Given the description of an element on the screen output the (x, y) to click on. 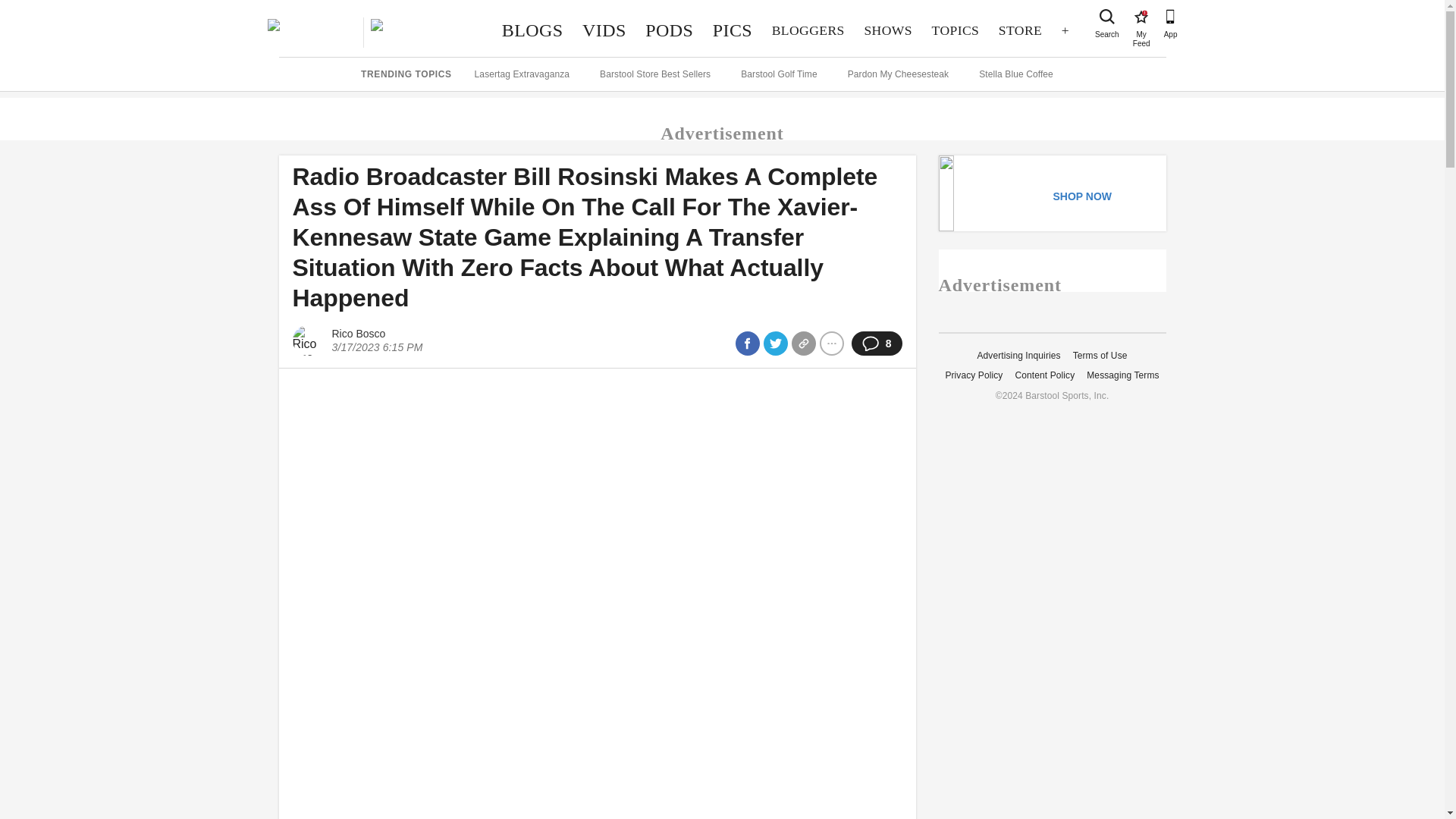
BLOGGERS (807, 30)
TOPICS (954, 30)
PICS (732, 30)
Search (1107, 16)
VIDS (603, 30)
BLOGS (1141, 16)
PODS (532, 30)
SHOWS (668, 30)
STORE (887, 30)
